Given the description of an element on the screen output the (x, y) to click on. 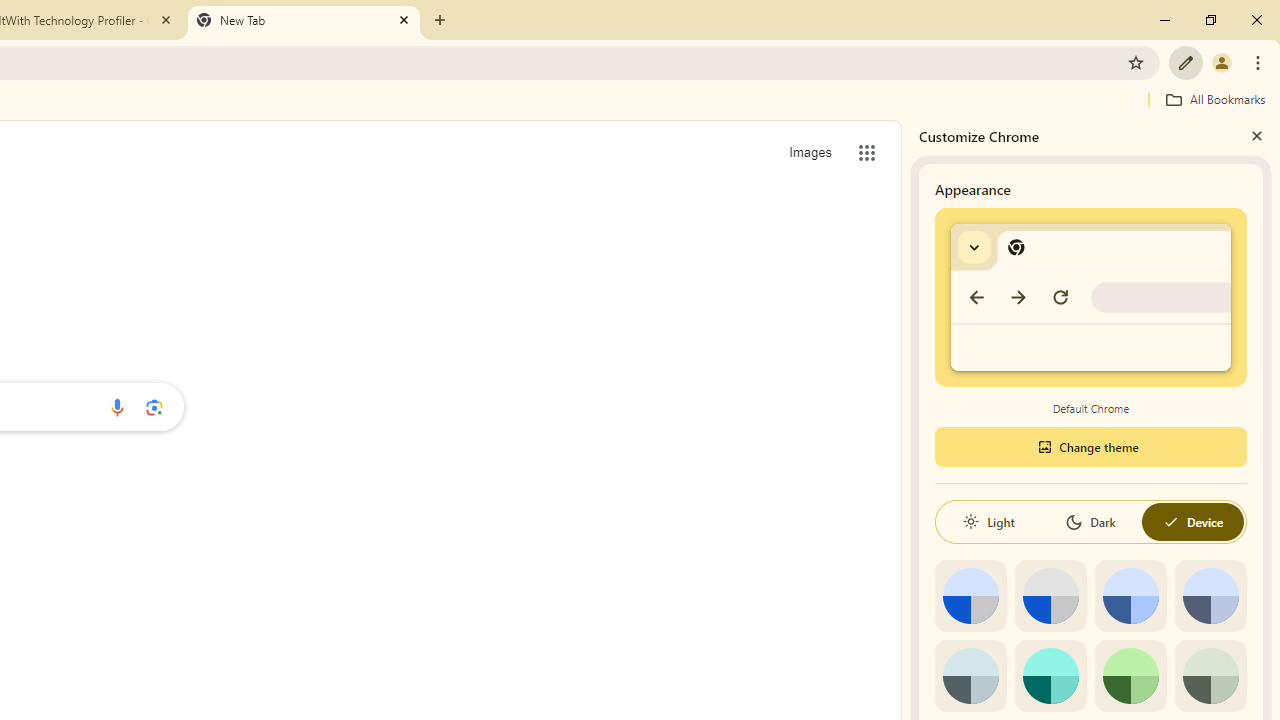
Default color (970, 596)
Aqua (1050, 676)
Light (988, 521)
Viridian (1210, 676)
New Tab (304, 20)
Grey default color (1050, 596)
Grey (970, 676)
